Given the description of an element on the screen output the (x, y) to click on. 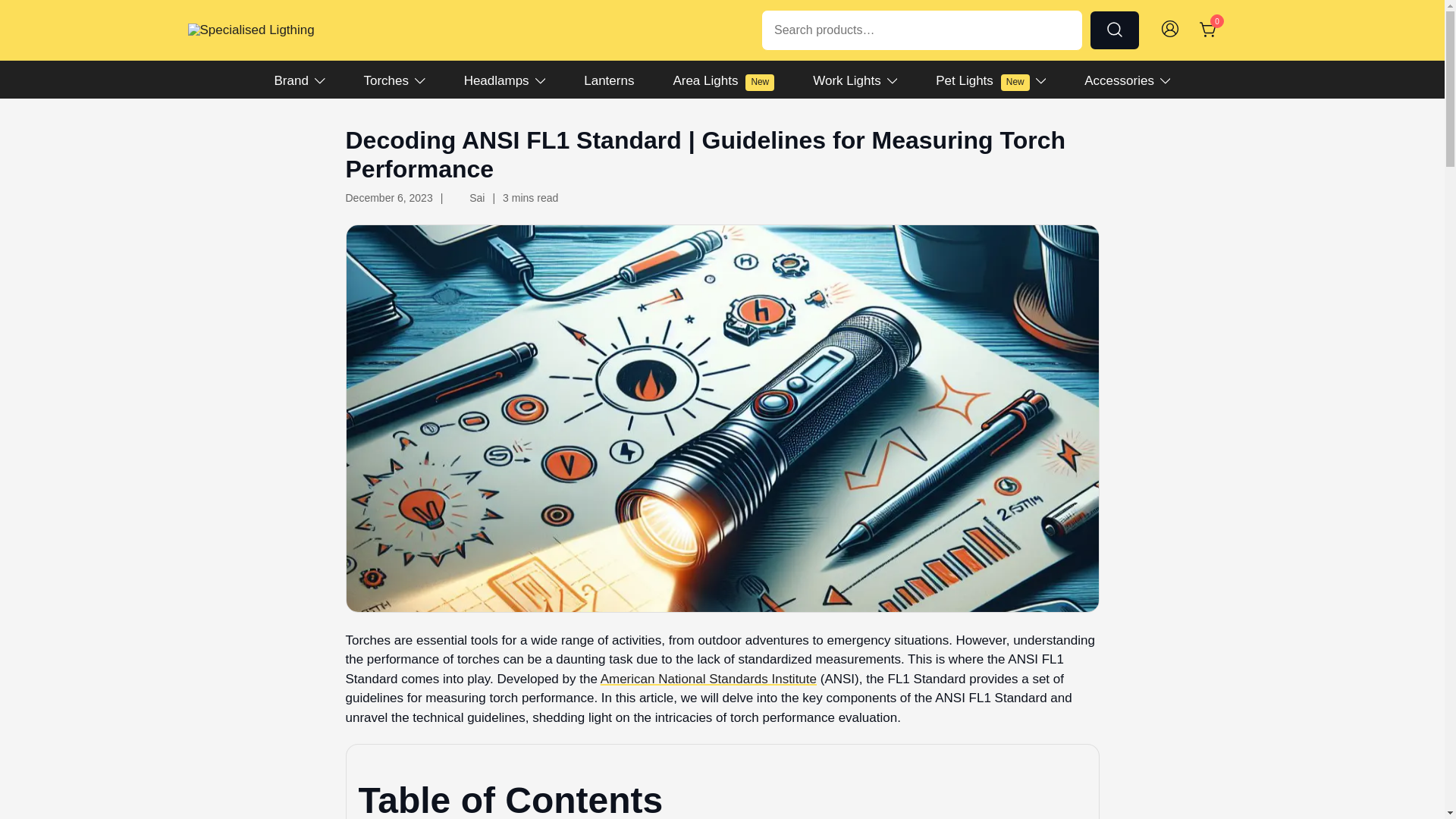
Lanterns (608, 80)
Brand (723, 80)
Accessories (291, 80)
Torches (1119, 80)
0 (386, 80)
Work Lights (982, 80)
Search for the product (1208, 29)
Your account (846, 80)
Search (1114, 29)
View your shopping cart (1169, 29)
Headlamps (1114, 29)
